Given the description of an element on the screen output the (x, y) to click on. 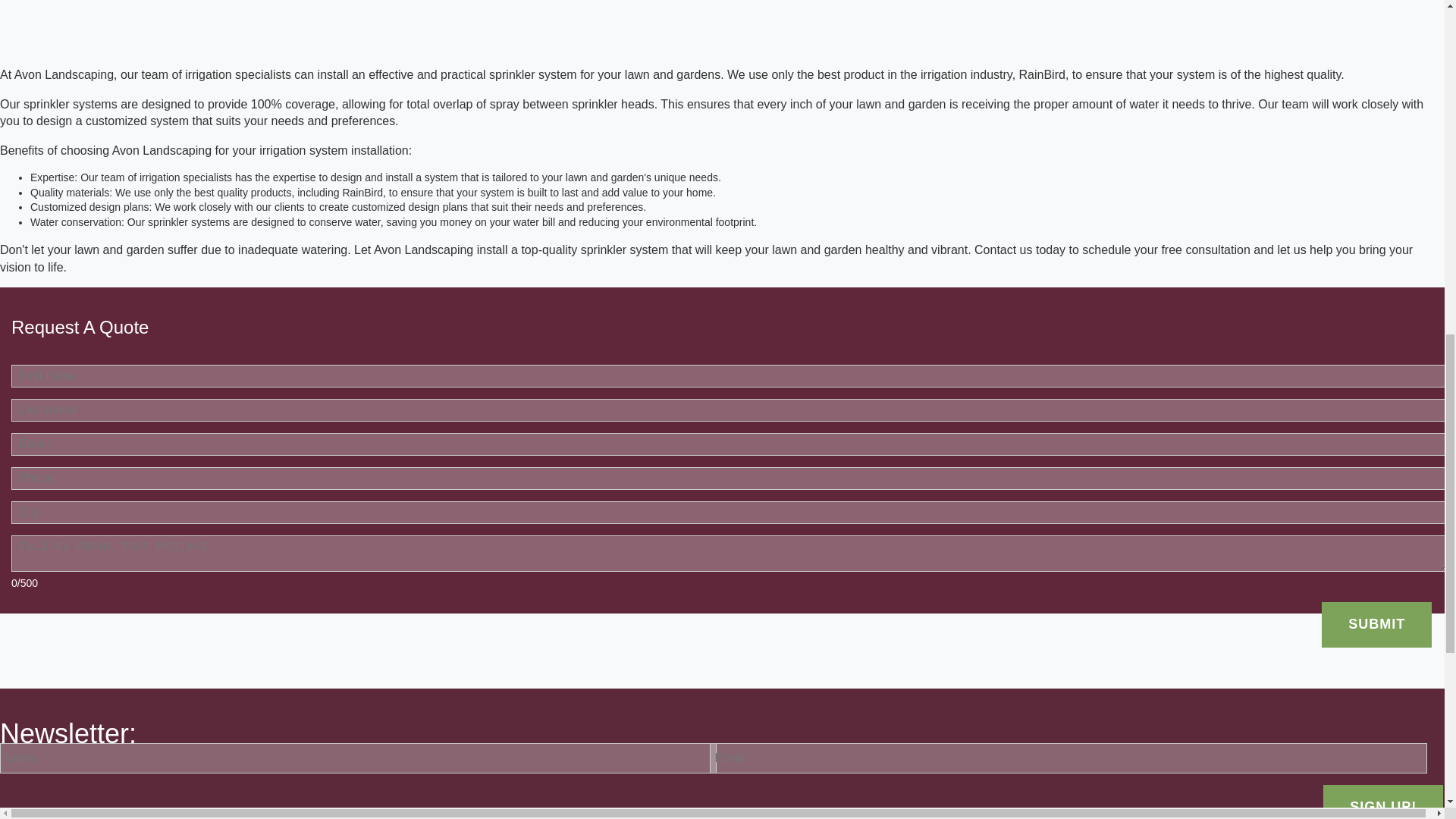
Sign Up! (1382, 801)
YouTube video player (212, 10)
SUBMIT (1376, 624)
